Given the description of an element on the screen output the (x, y) to click on. 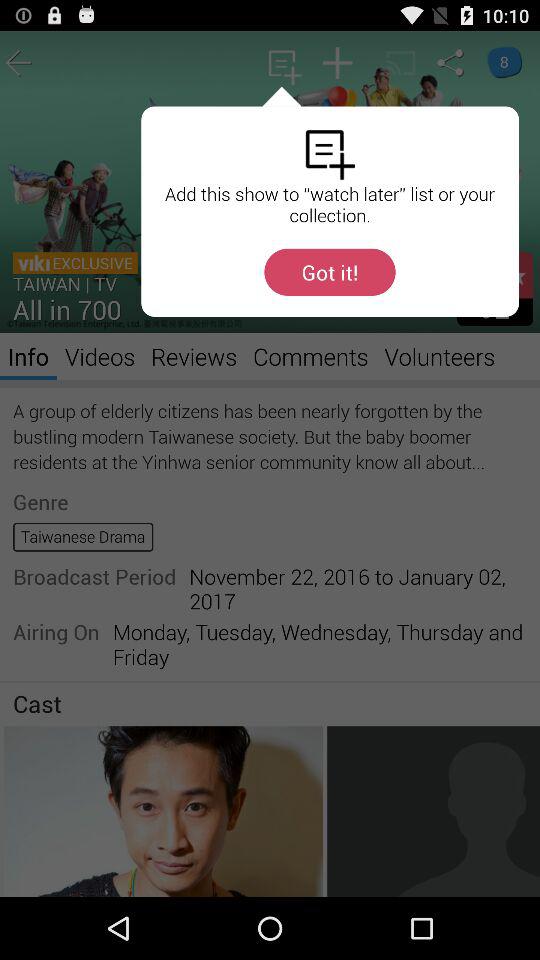
press item below add this show icon (329, 271)
